Given the description of an element on the screen output the (x, y) to click on. 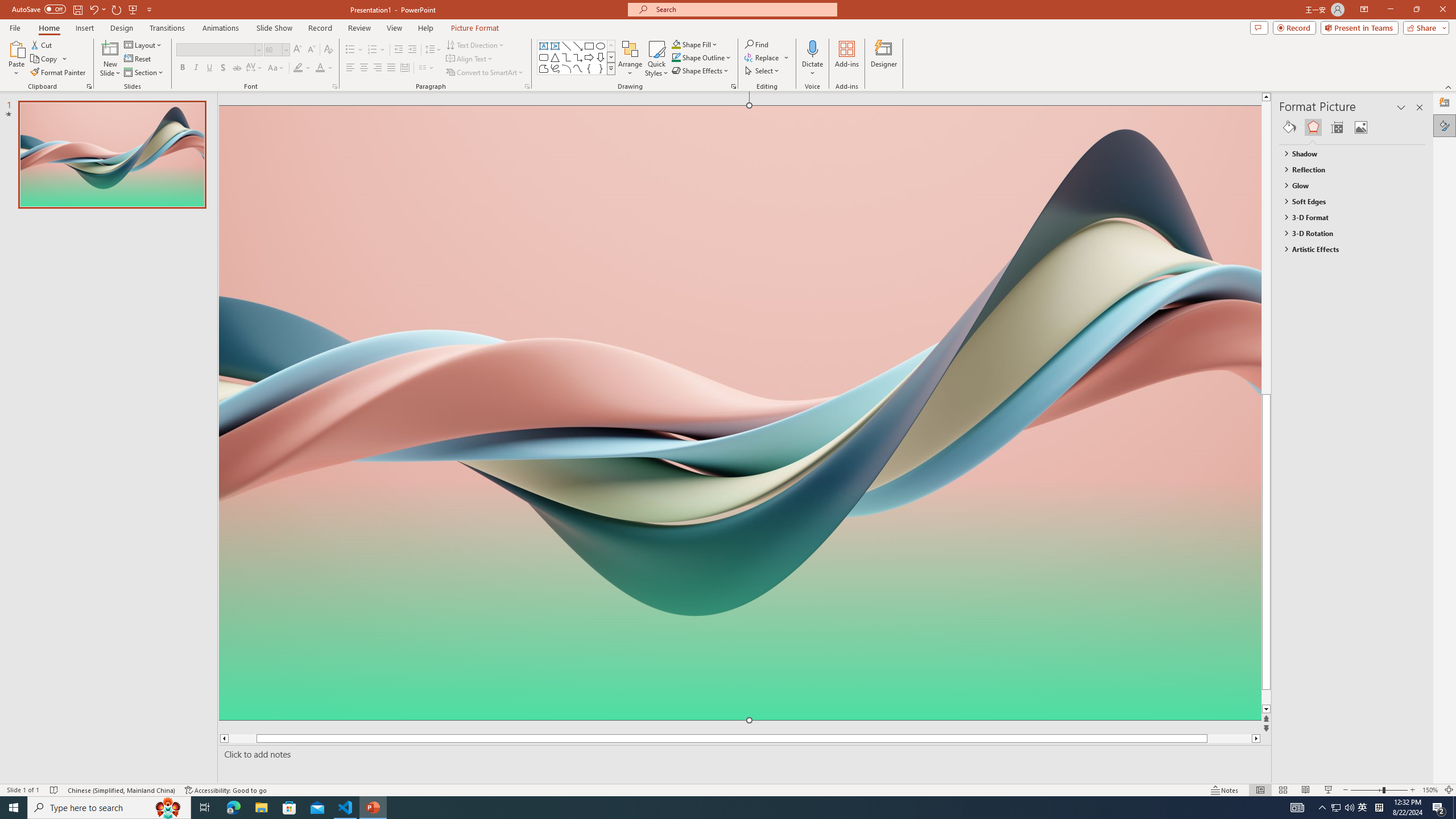
Page up (1287, 247)
Home (48, 28)
Select (762, 69)
Align Text (470, 58)
Notes  (1225, 790)
Font... (334, 85)
Format Picture (1444, 125)
Row Down (611, 56)
Text Direction (476, 44)
Slide Notes (742, 754)
Undo (96, 9)
Change Case (276, 67)
System (6, 6)
Format Painter (58, 72)
Arc (566, 68)
